Given the description of an element on the screen output the (x, y) to click on. 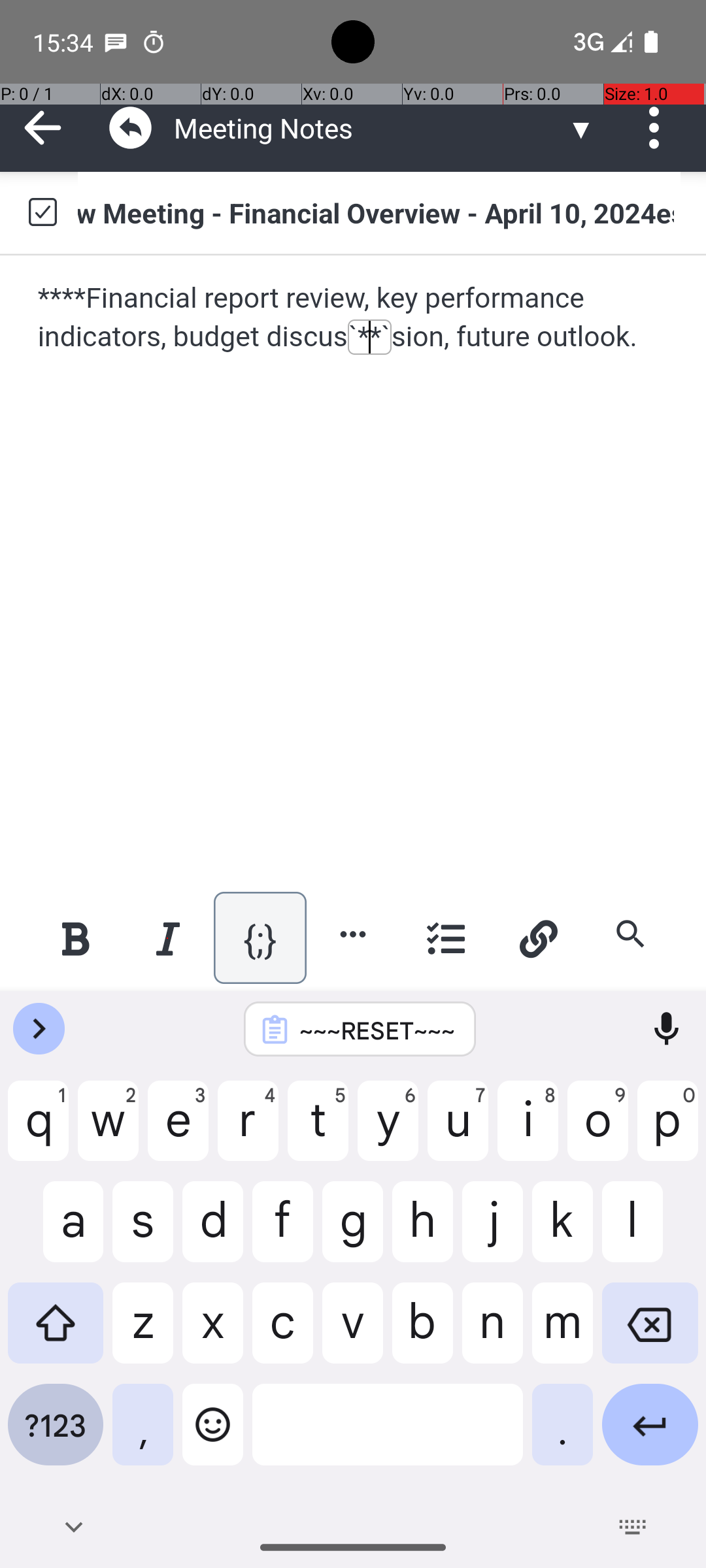
Board Meeting - Q1 Financial RQuarterly Review Meeting - Financial Overview - April 10, 2024esults - March 28, 2024 Element type: android.widget.EditText (378, 212)
****Financial report review, key performance indicators, budget discus`**`sion, future outlook. Element type: android.widget.EditText (354, 317)
